Given the description of an element on the screen output the (x, y) to click on. 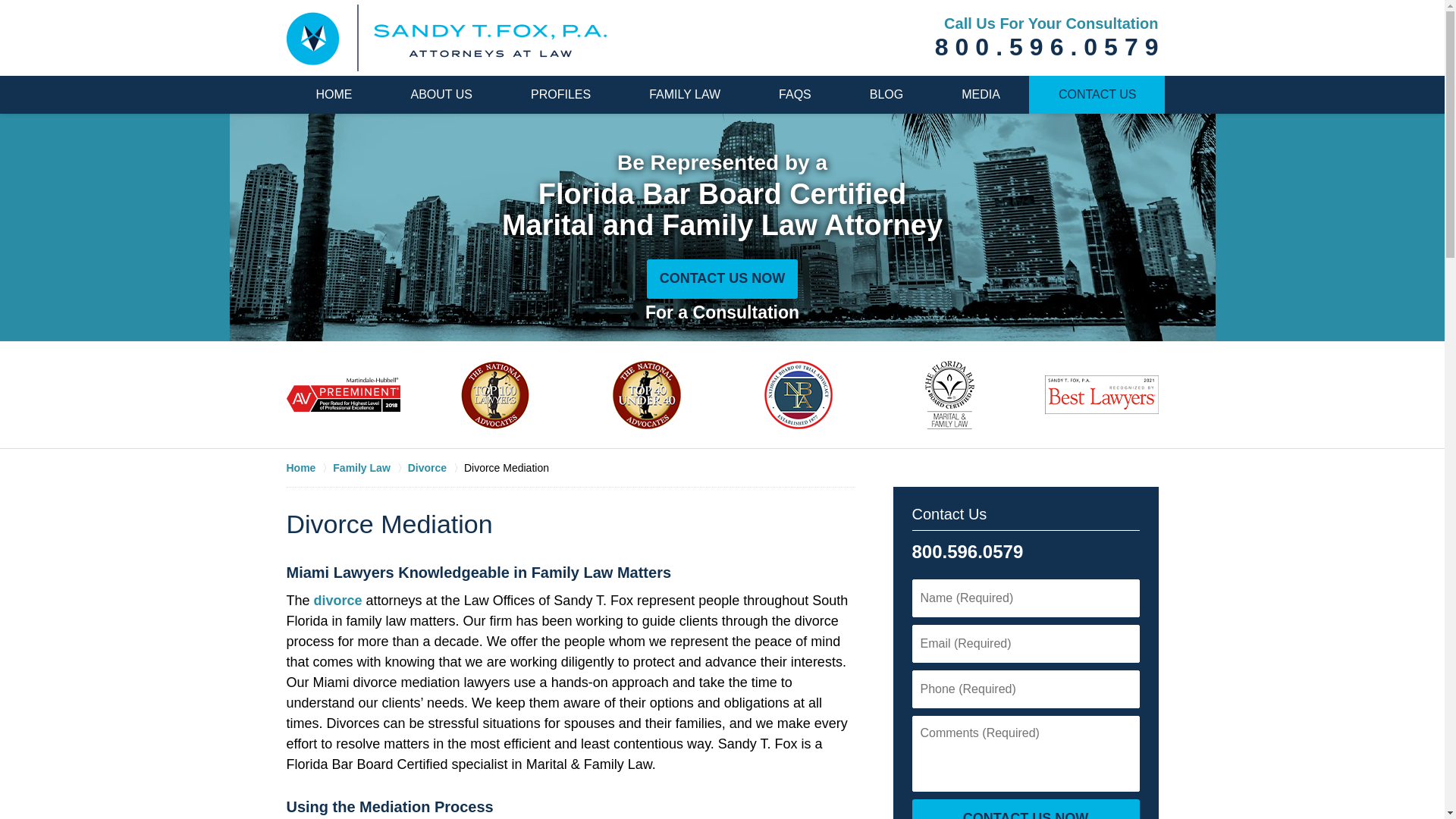
ABOUT US (440, 94)
Miami Family Lawyers Sandy T. Fox Home (446, 37)
FAMILY LAW (684, 94)
FAQS (794, 94)
Contact Us (949, 514)
divorce (338, 600)
PROFILES (560, 94)
CONTACT US NOW (1024, 809)
Family Law (370, 467)
HOME (333, 94)
MEDIA (980, 94)
Home (309, 467)
Back to Home (446, 37)
Divorce (435, 467)
BLOG (885, 94)
